Given the description of an element on the screen output the (x, y) to click on. 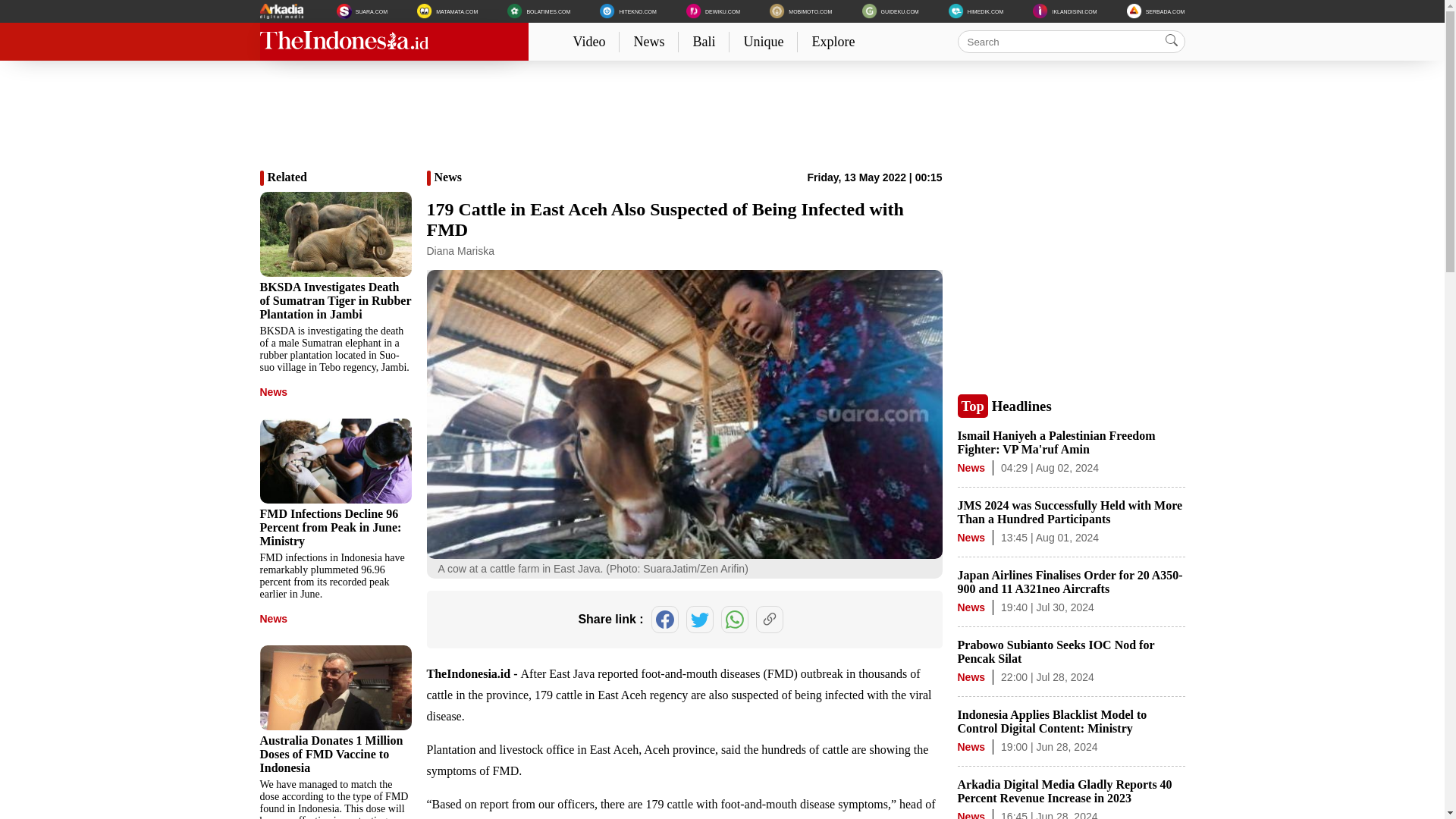
Bali (703, 40)
Unique (762, 40)
SUARA.COM (361, 11)
News (648, 40)
DEWIKU.COM (712, 11)
HIMEDIK.COM (976, 11)
